Given the description of an element on the screen output the (x, y) to click on. 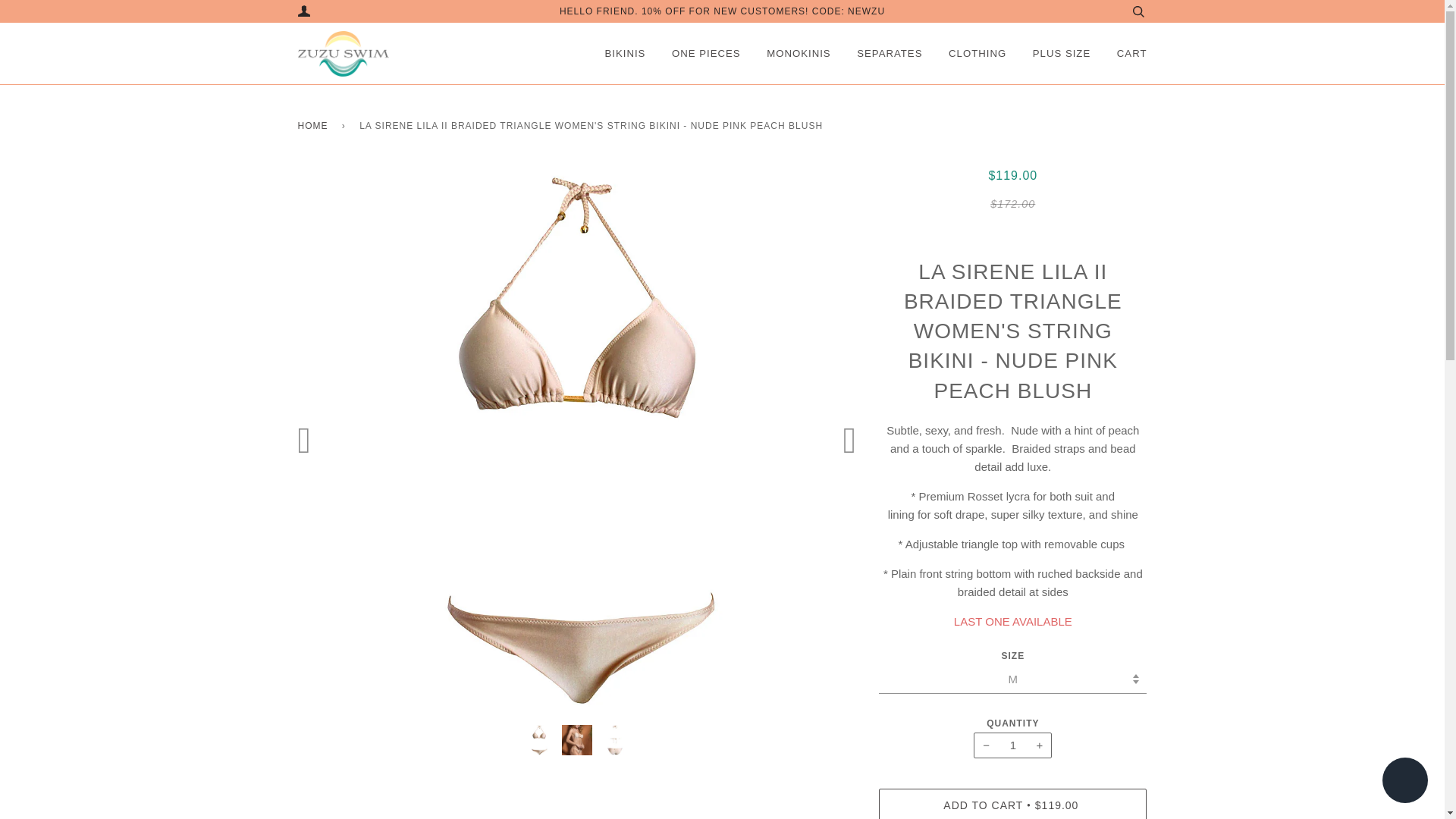
Back to the frontpage (315, 125)
HOME (315, 125)
PLUS SIZE (1061, 53)
1 (1012, 744)
MONOKINIS (798, 53)
CLOTHING (977, 53)
SEPARATES (889, 53)
ONE PIECES (706, 53)
Shopify online store chat (1404, 781)
